Given the description of an element on the screen output the (x, y) to click on. 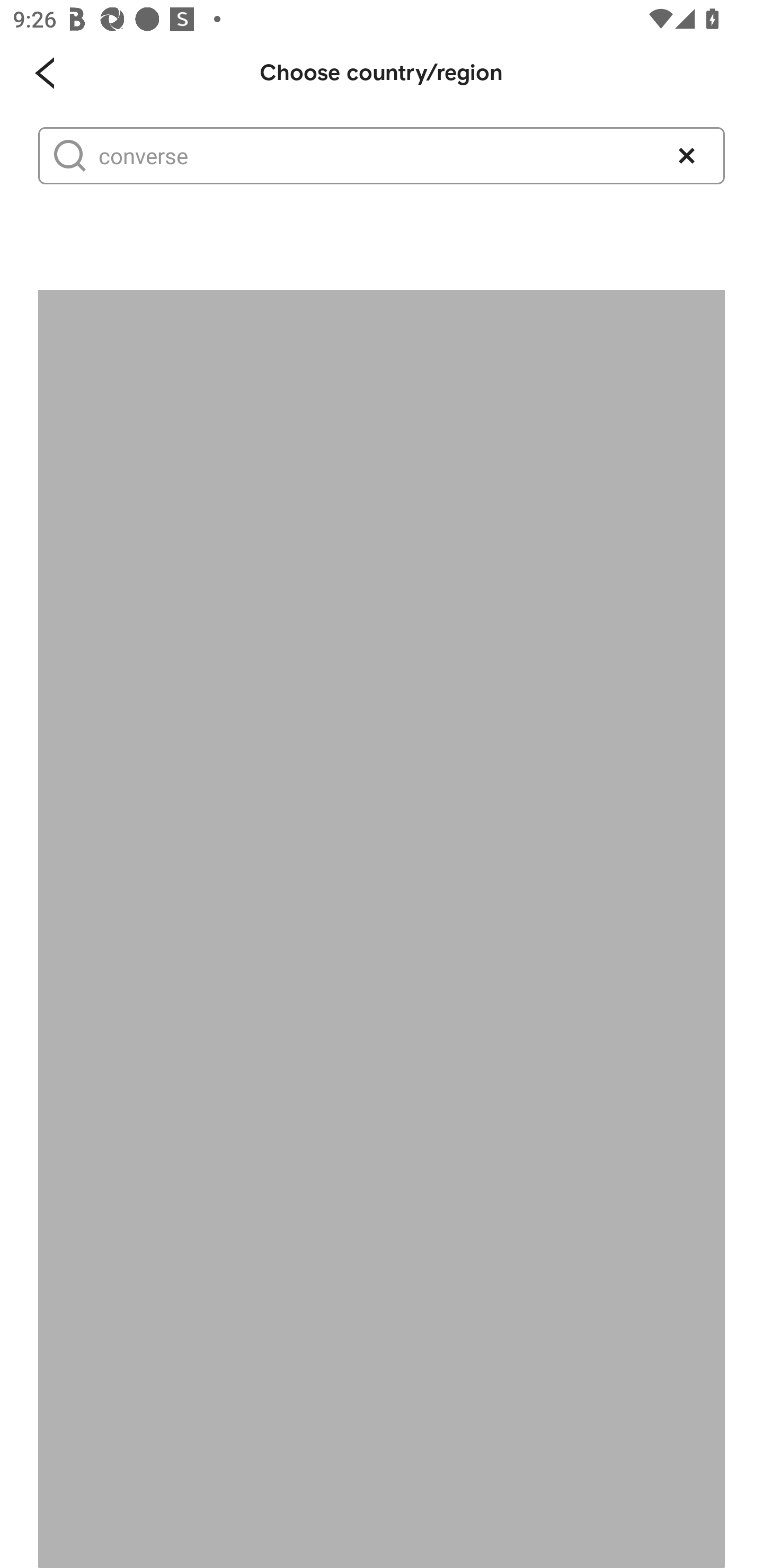
converse (373, 155)
